Given the description of an element on the screen output the (x, y) to click on. 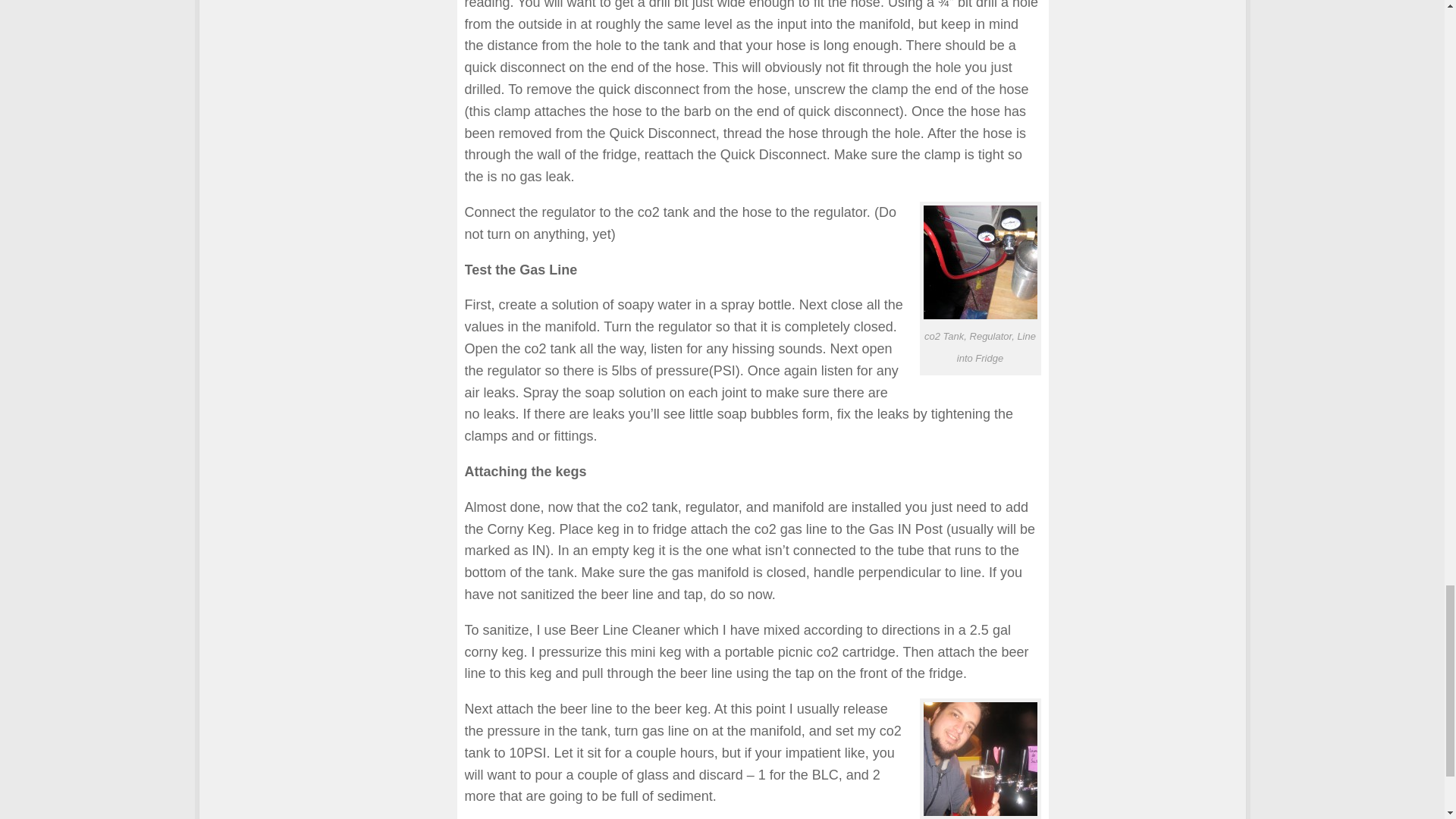
pic-004 (979, 262)
pic-054 (979, 758)
